Given the description of an element on the screen output the (x, y) to click on. 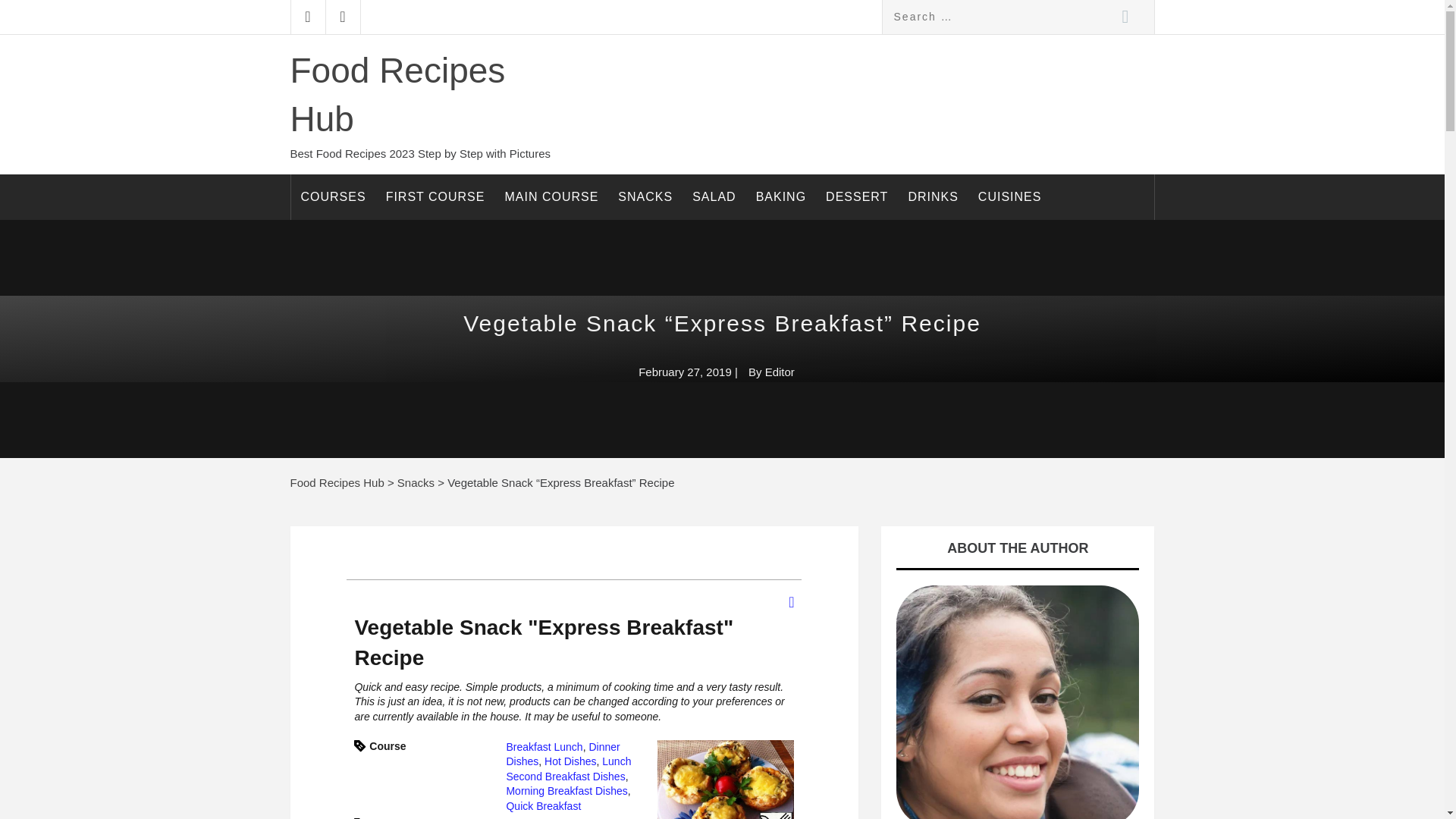
Go to the Snacks category archives. (415, 481)
MAIN COURSE (551, 197)
Search (1124, 17)
Search (1124, 17)
COURSES (333, 197)
Food Recipes Hub (397, 94)
FIRST COURSE (435, 197)
Go to Food Recipes Hub. (336, 481)
Vegetable Snack "Express Breakfast" Recipe (725, 779)
Search (1124, 17)
